Given the description of an element on the screen output the (x, y) to click on. 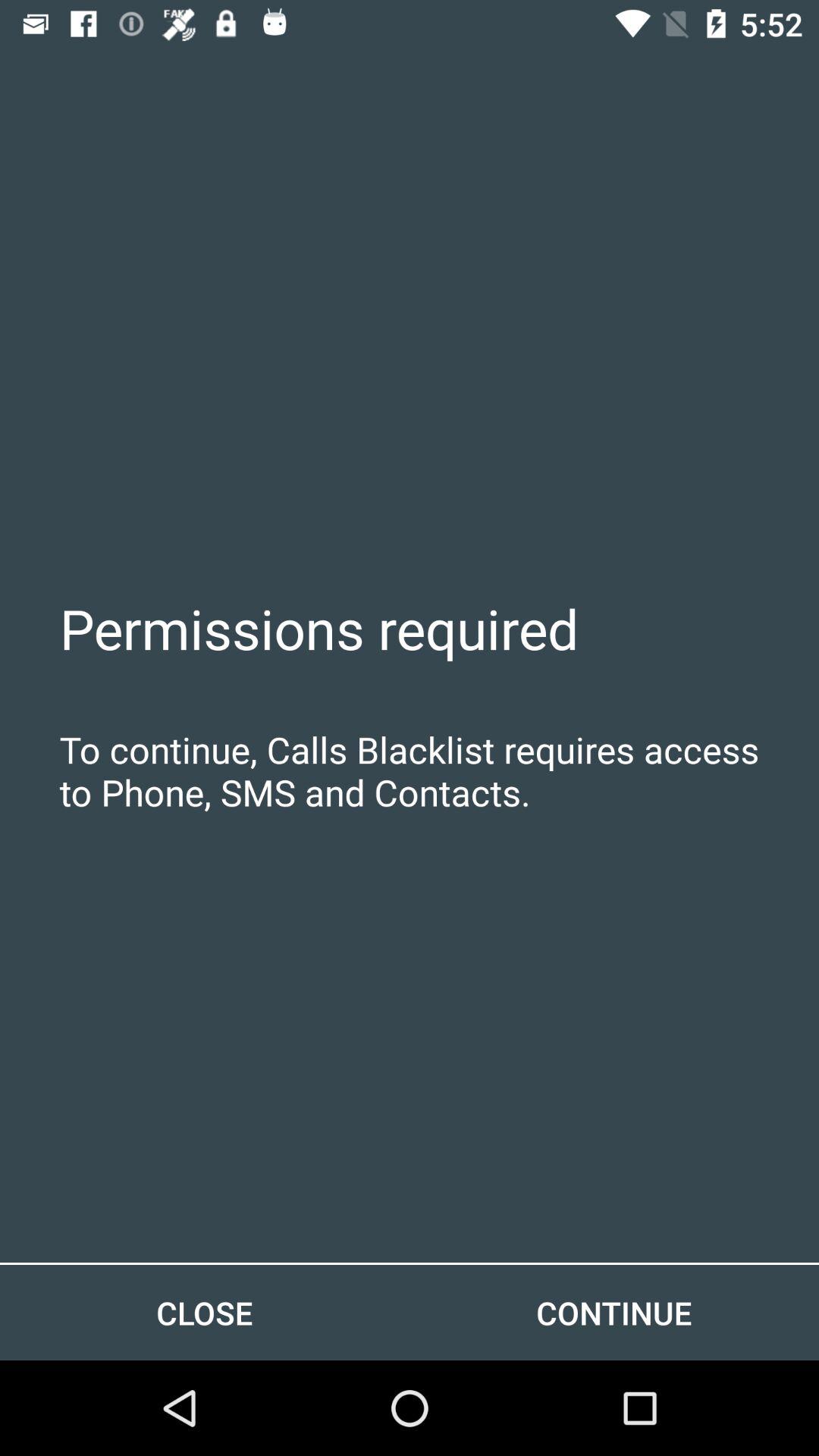
press the item next to continue item (204, 1312)
